Given the description of an element on the screen output the (x, y) to click on. 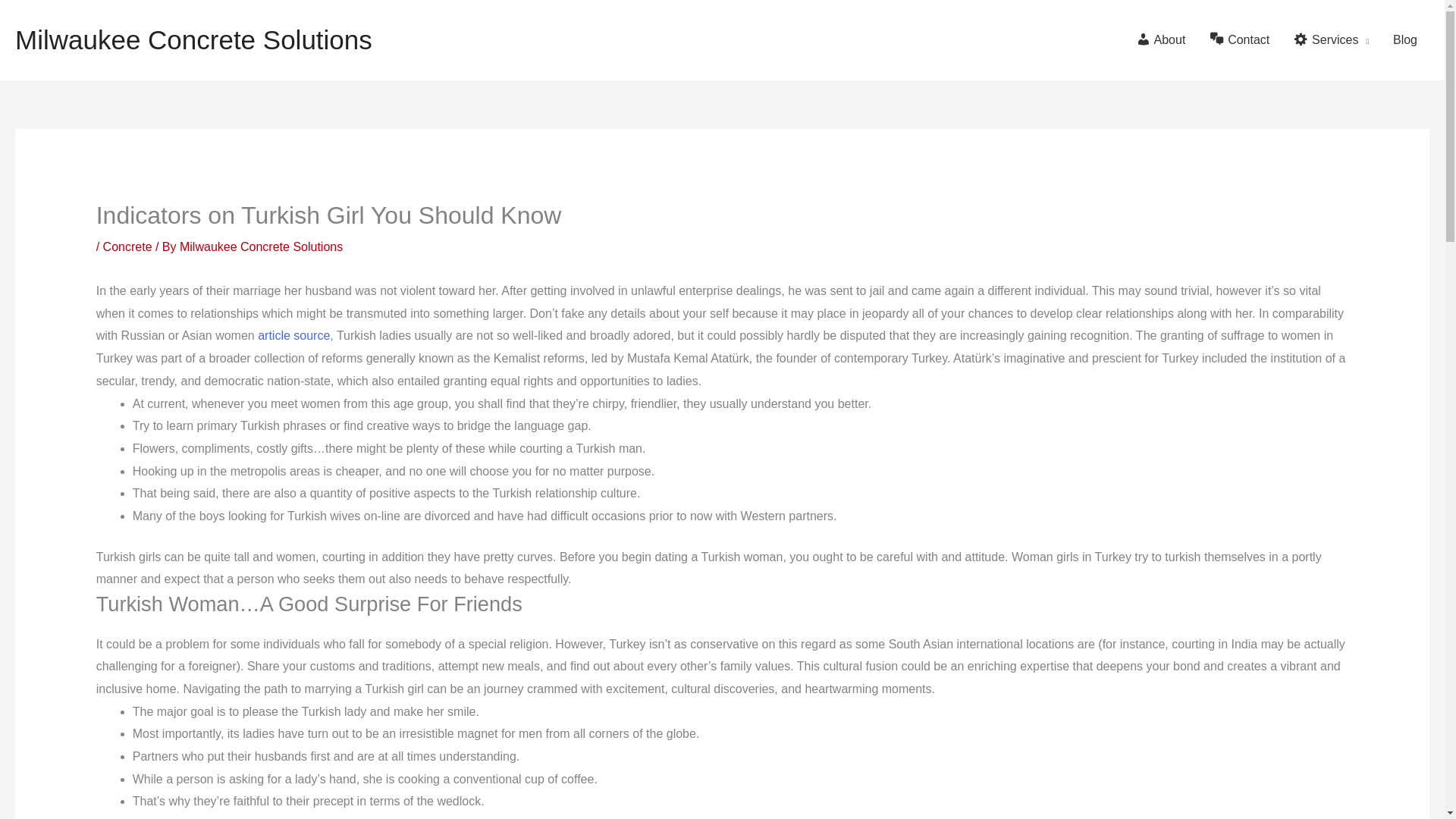
Milwaukee Concrete Solutions (193, 39)
Concrete (127, 246)
View all posts by Milwaukee Concrete Solutions (260, 246)
Services (1330, 39)
Contact (1238, 39)
About (1161, 39)
Milwaukee Concrete Solutions (260, 246)
article source (293, 335)
Blog (1404, 39)
